Given the description of an element on the screen output the (x, y) to click on. 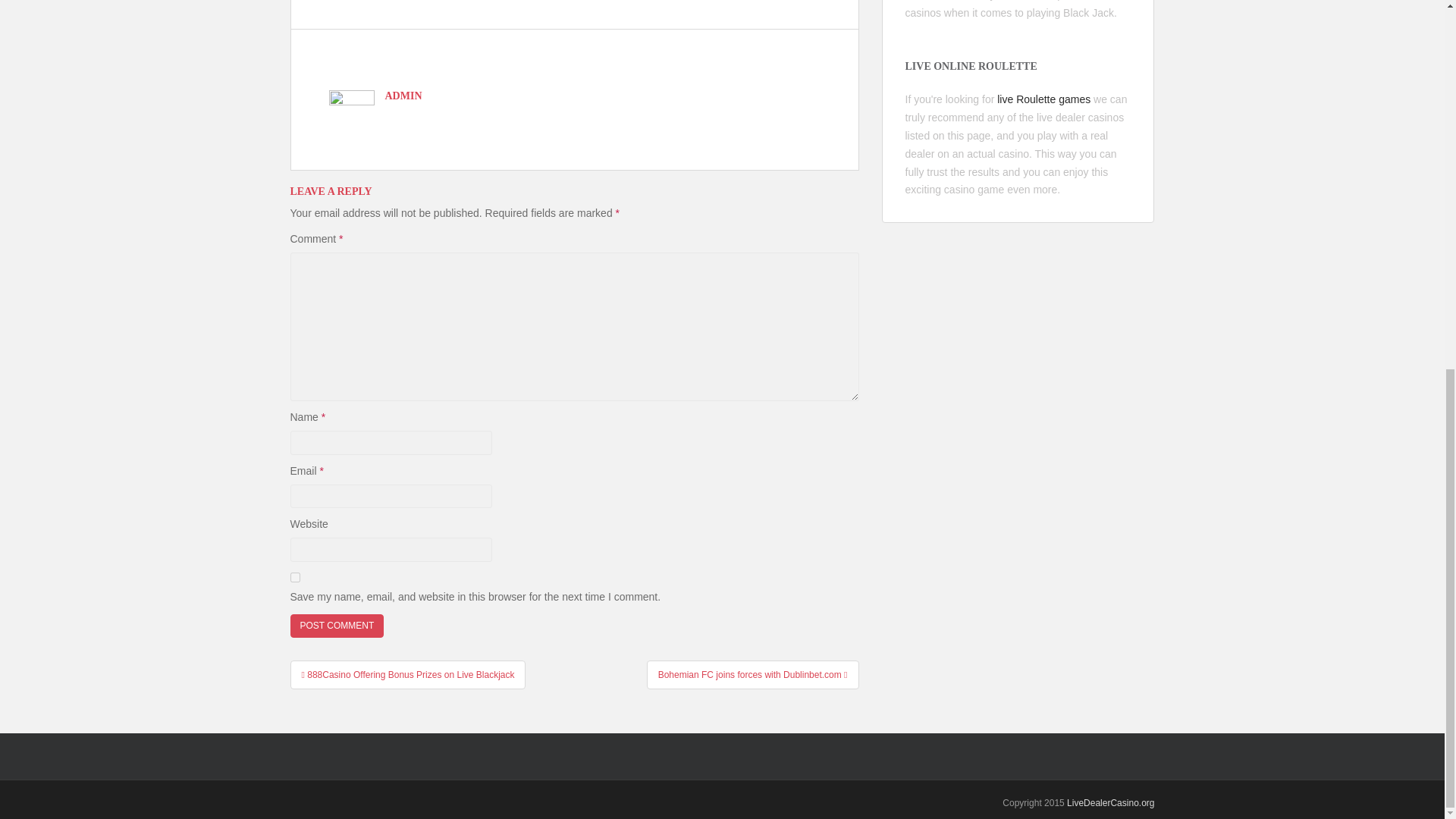
Post Comment (336, 626)
LiveDealerCasino.org (1110, 802)
yes (294, 577)
888Casino Offering Bonus Prizes on Live Blackjack (407, 674)
ADMIN (403, 95)
Bohemian FC joins forces with Dublinbet.com (752, 674)
Post Comment (336, 626)
live Roulette games (1043, 99)
